Given the description of an element on the screen output the (x, y) to click on. 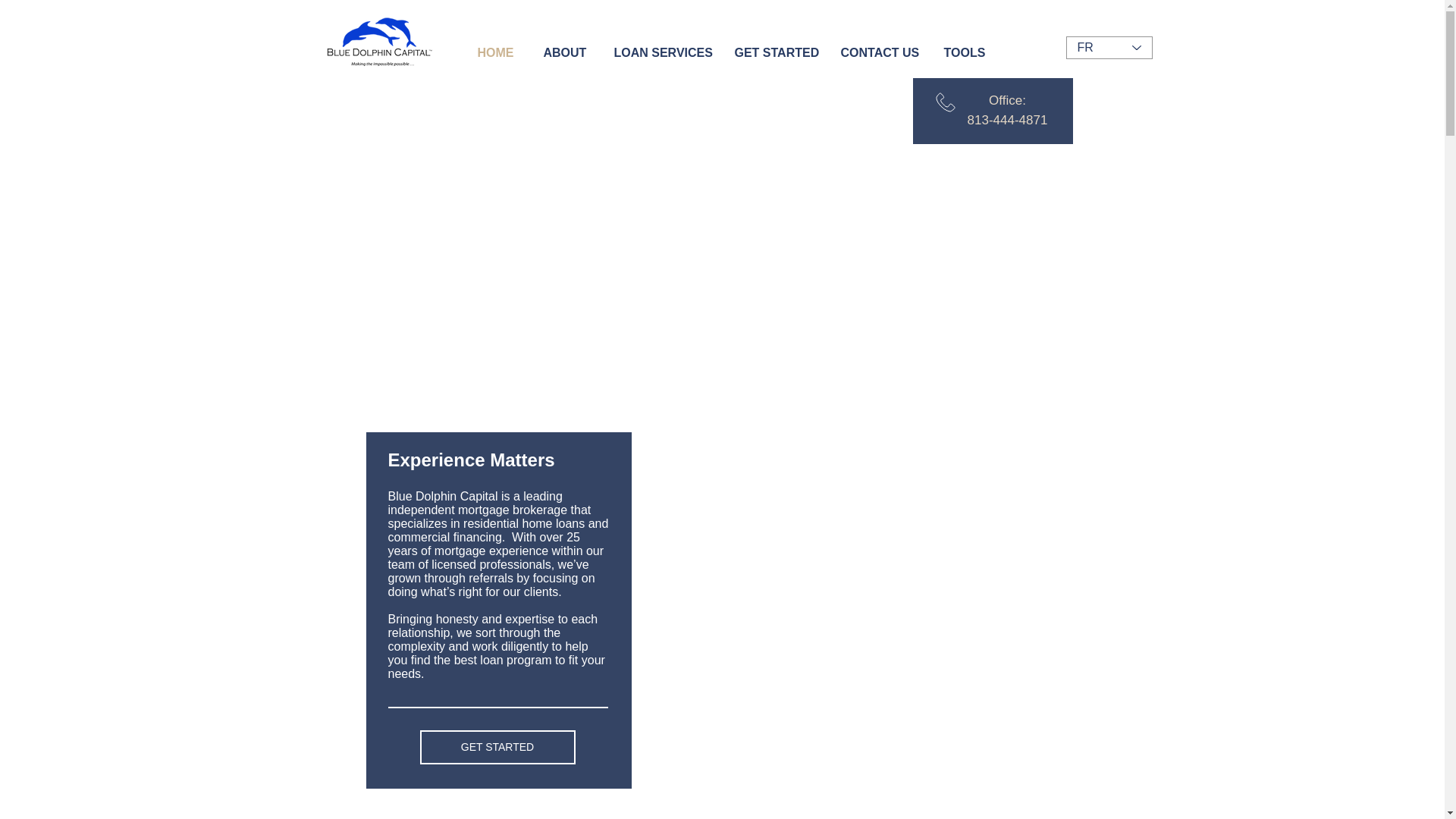
ABOUT (567, 52)
CONTACT US (881, 52)
GET STARTED (497, 747)
TOOLS (967, 52)
LOAN SERVICES (662, 52)
GET STARTED (776, 52)
HOME (498, 52)
